Given the description of an element on the screen output the (x, y) to click on. 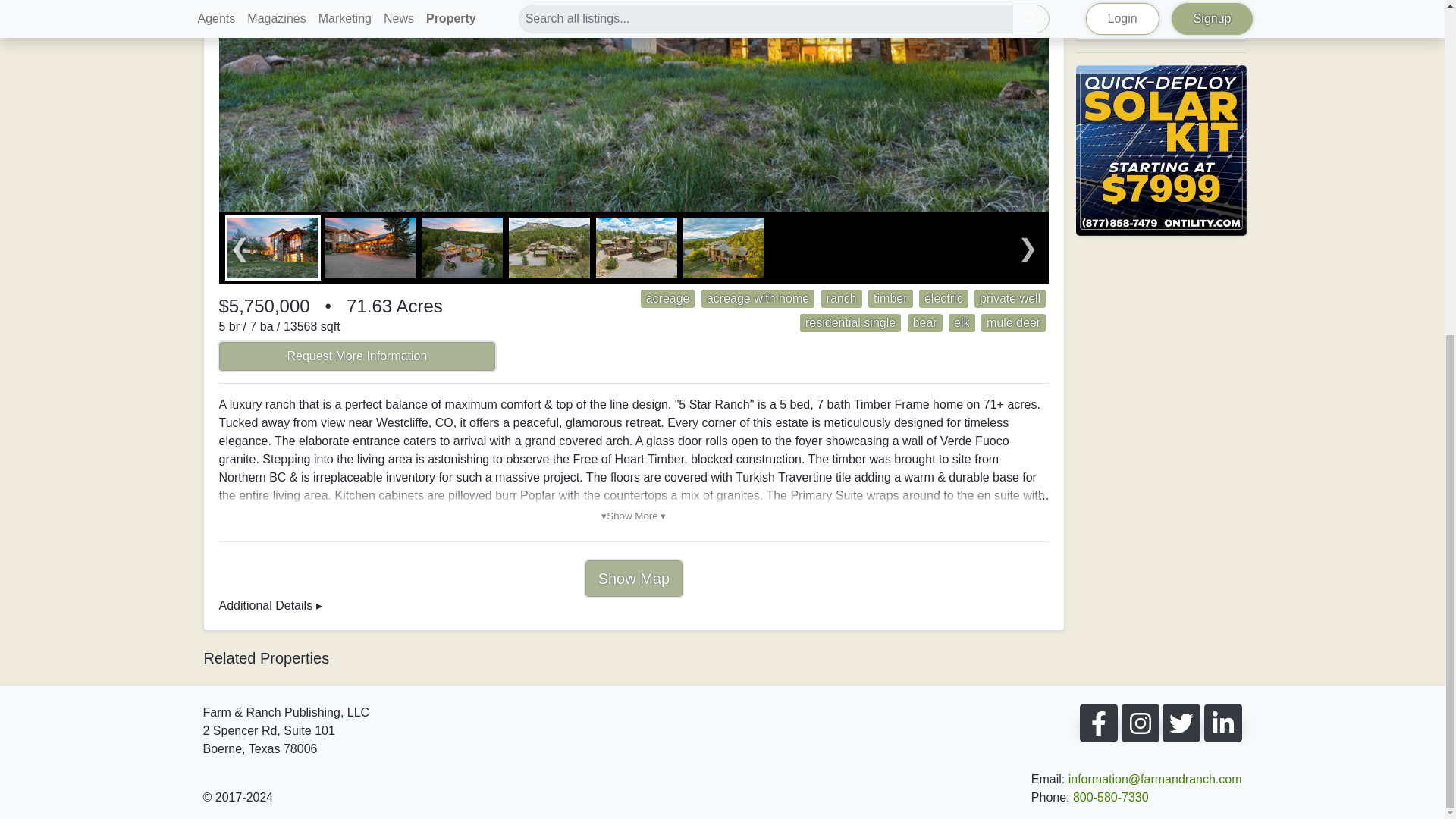
Request More Information (356, 356)
Additional Details (265, 604)
electric (943, 298)
acreage (668, 298)
mule deer (1014, 322)
private well (1010, 298)
timber (890, 298)
Show Map (633, 578)
acreage with home (757, 298)
ranch (842, 298)
